Given the description of an element on the screen output the (x, y) to click on. 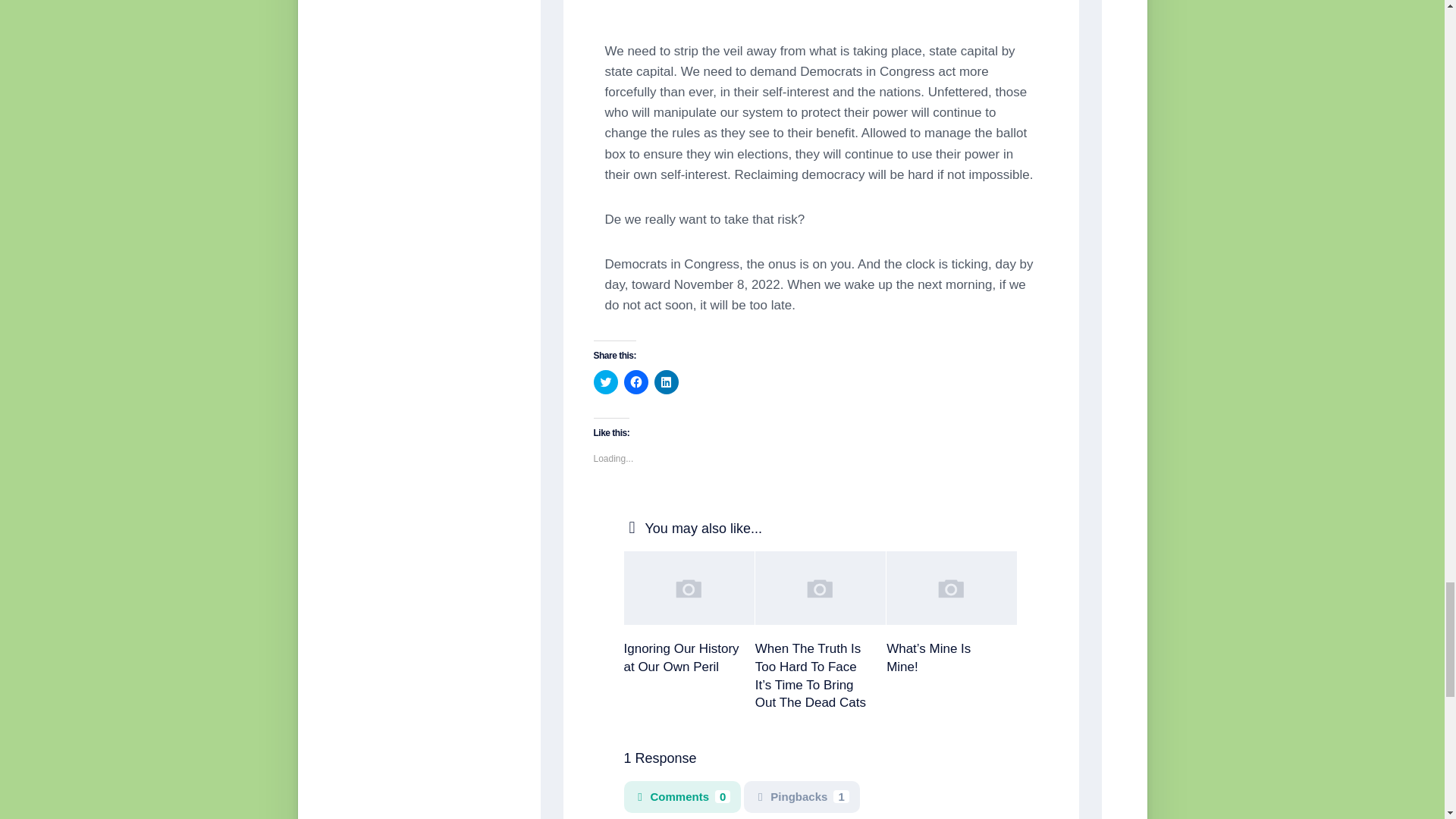
Click to share on Facebook (635, 381)
Click to share on LinkedIn (665, 381)
Click to share on Twitter (604, 381)
